Given the description of an element on the screen output the (x, y) to click on. 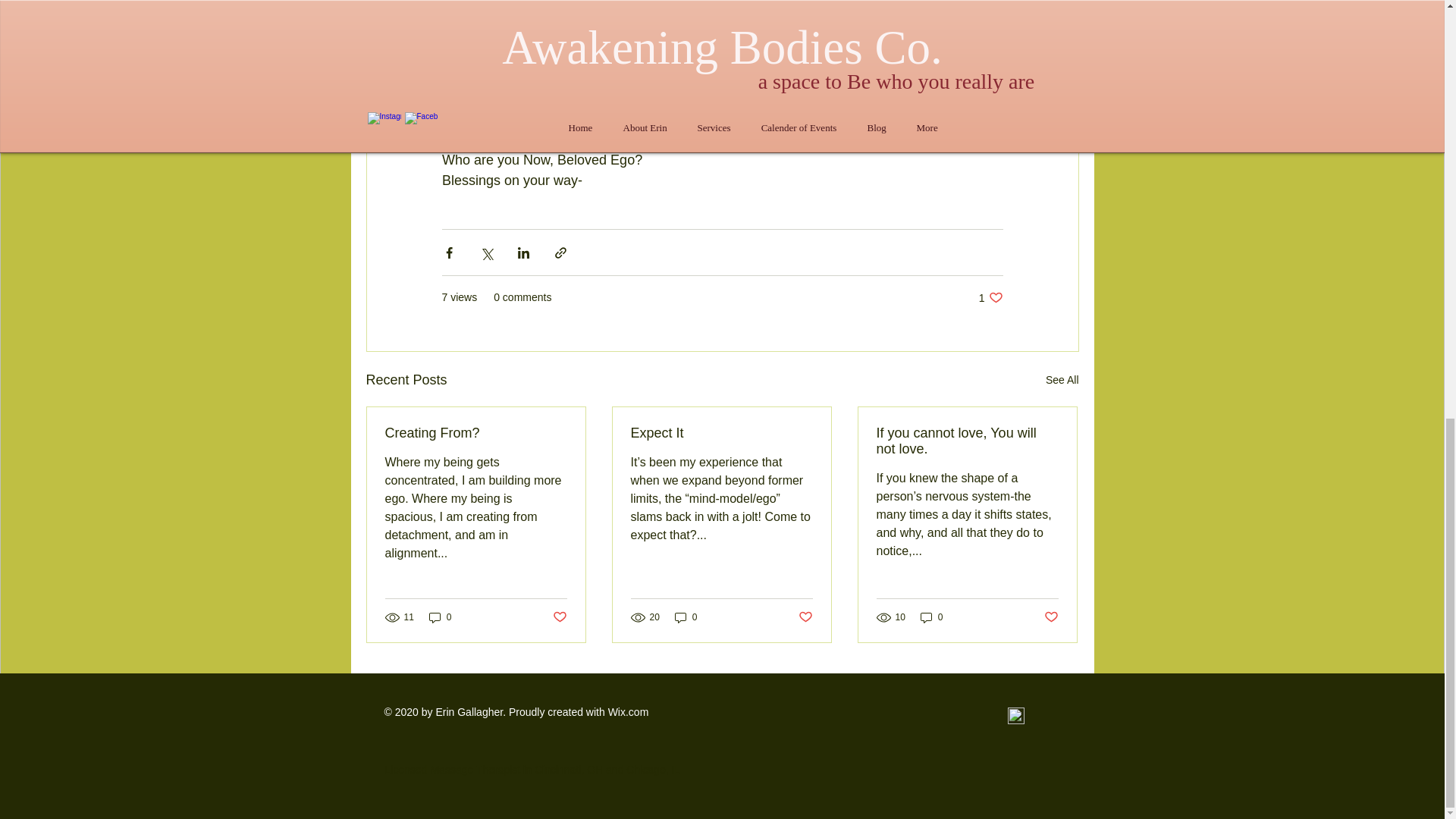
0 (931, 617)
Post not marked as liked (558, 616)
Post not marked as liked (804, 616)
Creating From? (476, 433)
Expect It (721, 433)
0 (440, 617)
If you cannot love, You will not love. (967, 441)
See All (1061, 380)
Post not marked as liked (990, 297)
